Given the description of an element on the screen output the (x, y) to click on. 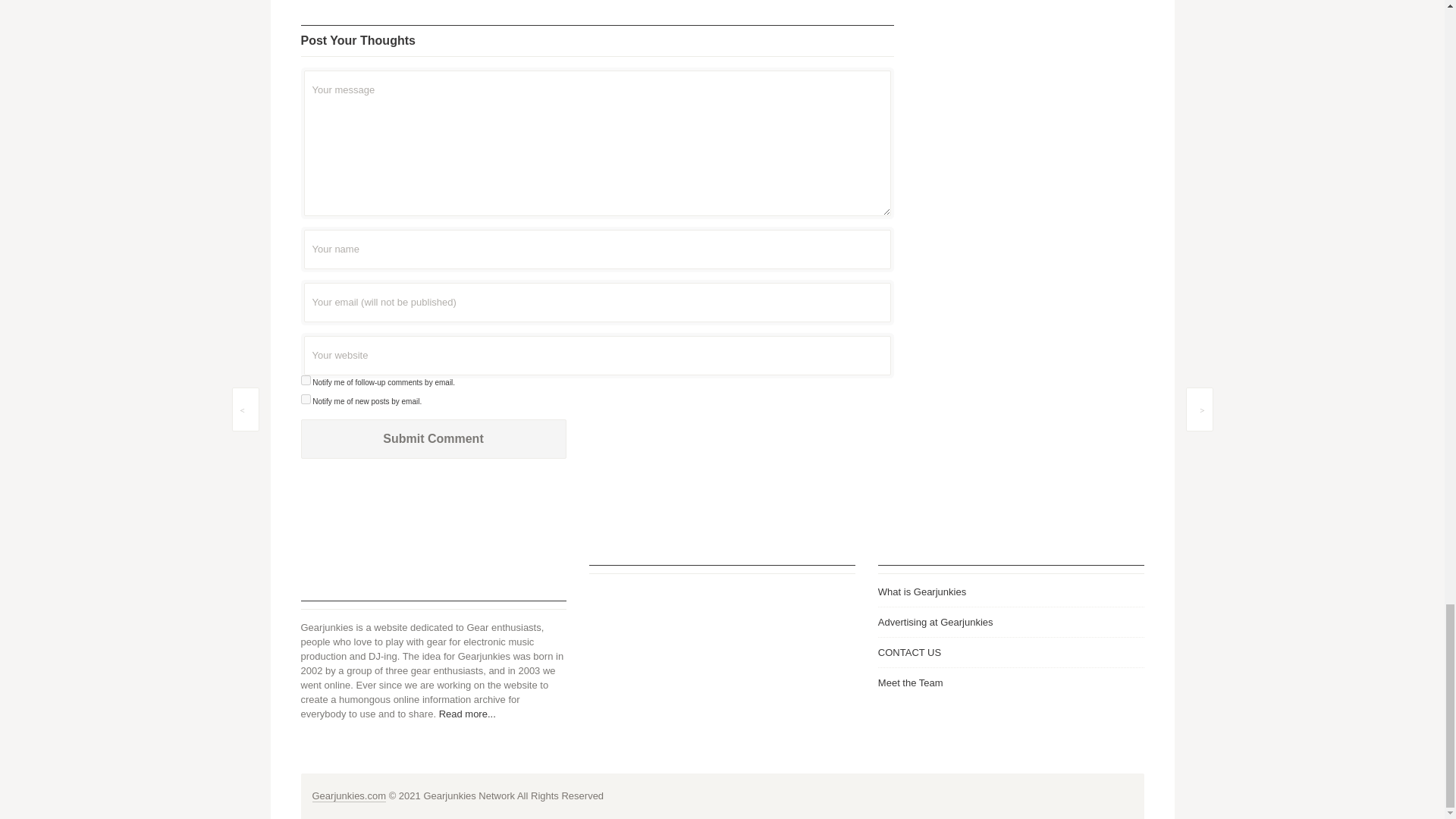
Submit Comment (432, 438)
subscribe (304, 379)
subscribe (304, 398)
